Given the description of an element on the screen output the (x, y) to click on. 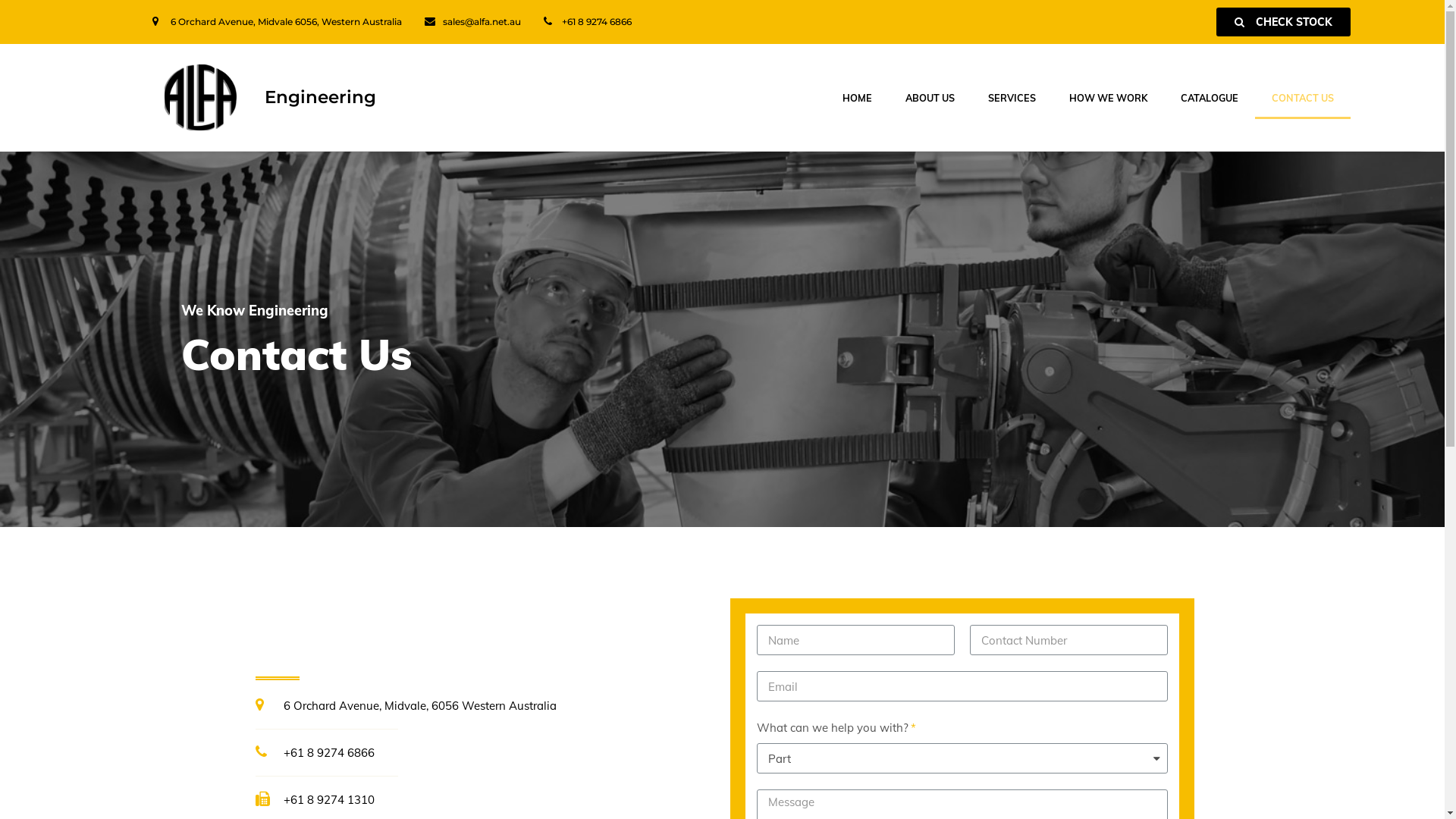
+61 8 9274 6866 Element type: text (477, 752)
CATALOGUE Element type: text (1208, 96)
HOME Element type: text (856, 96)
CONTACT US Element type: text (1301, 96)
ABOUT US Element type: text (929, 96)
CHECK STOCK Element type: text (1283, 21)
SERVICES Element type: text (1010, 96)
HOW WE WORK Element type: text (1108, 96)
